Given the description of an element on the screen output the (x, y) to click on. 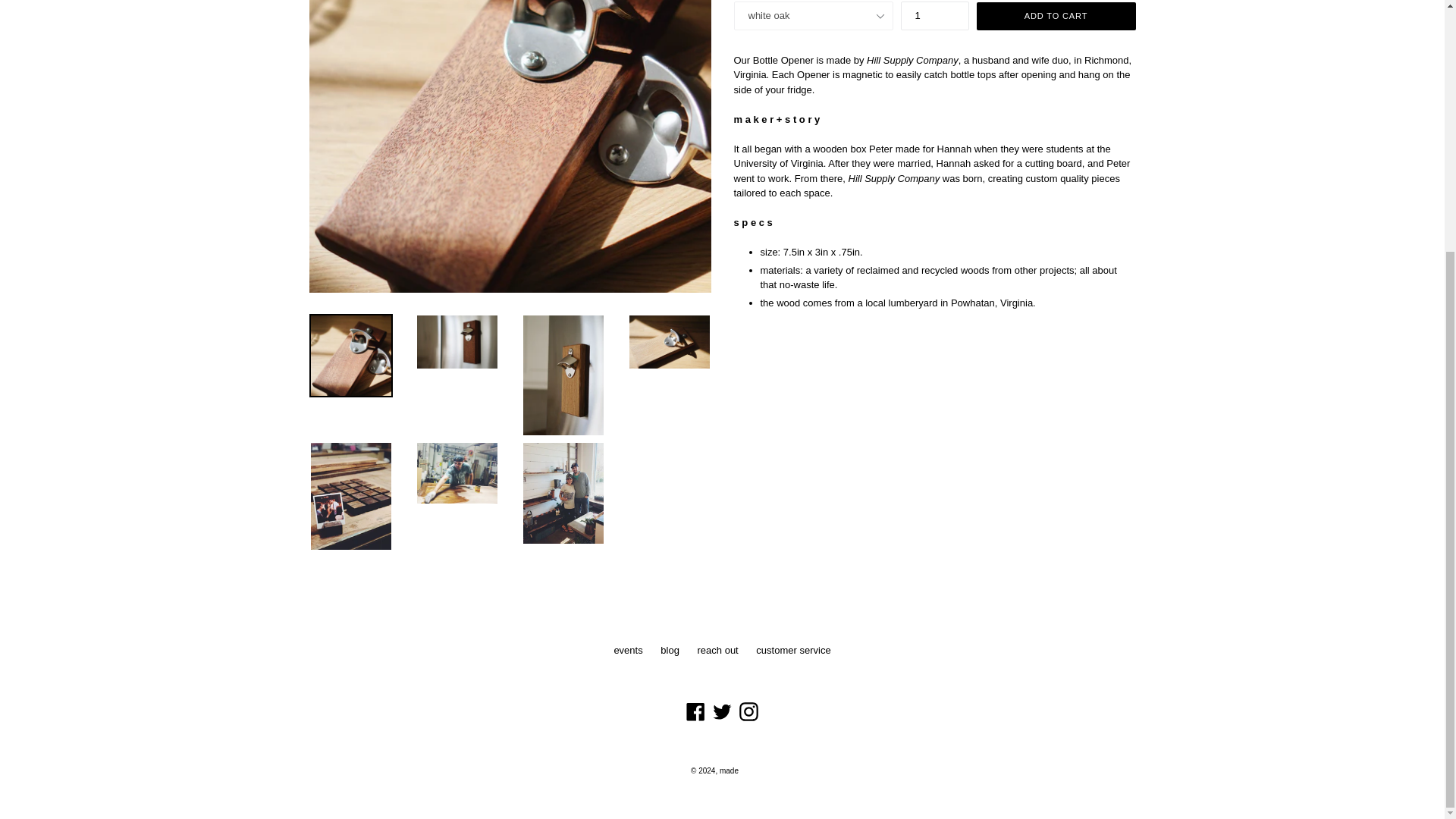
1 (935, 15)
made on Twitter (721, 711)
made on Instagram (748, 711)
made on Facebook (695, 711)
